Given the description of an element on the screen output the (x, y) to click on. 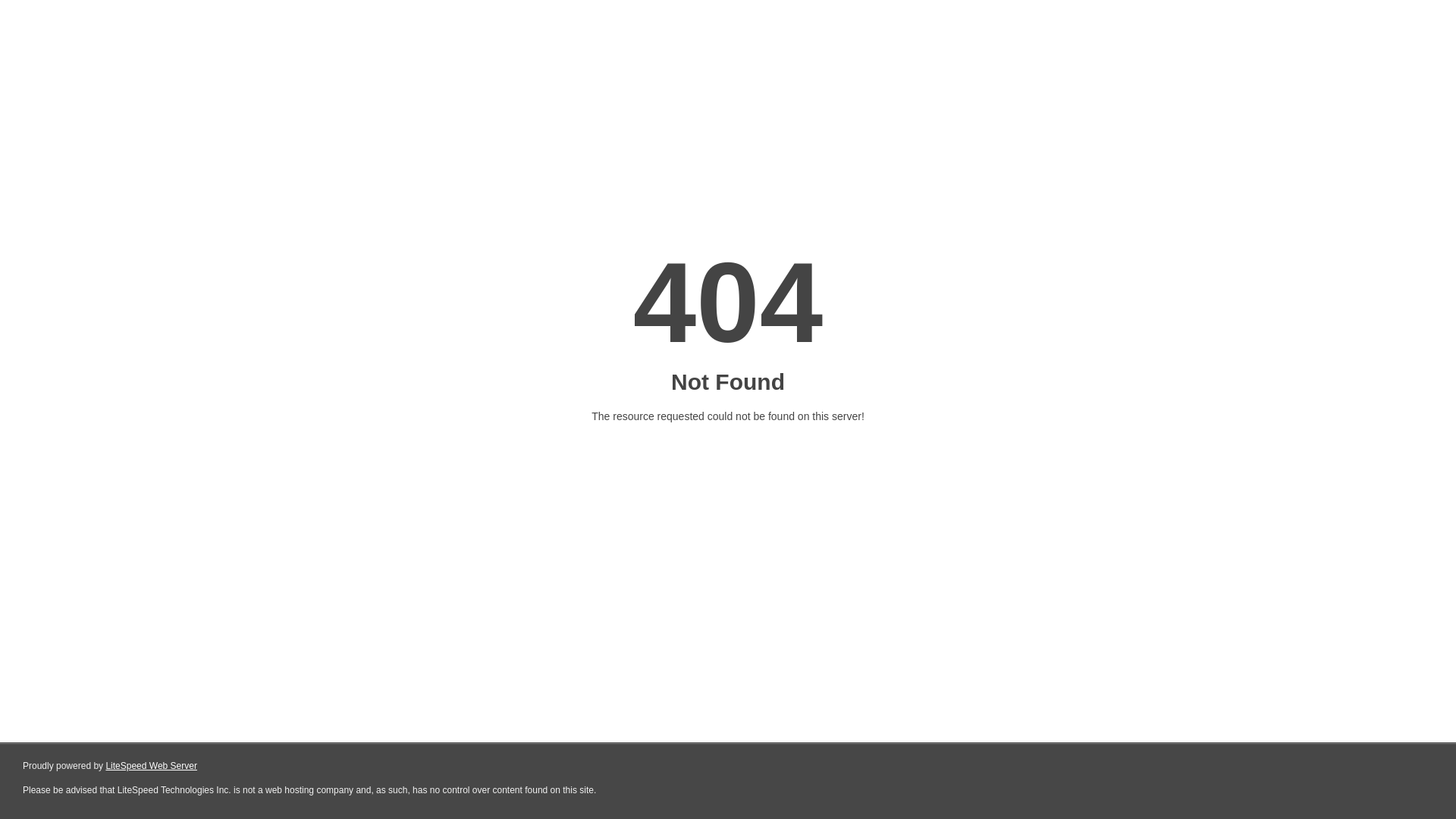
LiteSpeed Web Server Element type: text (151, 765)
